Given the description of an element on the screen output the (x, y) to click on. 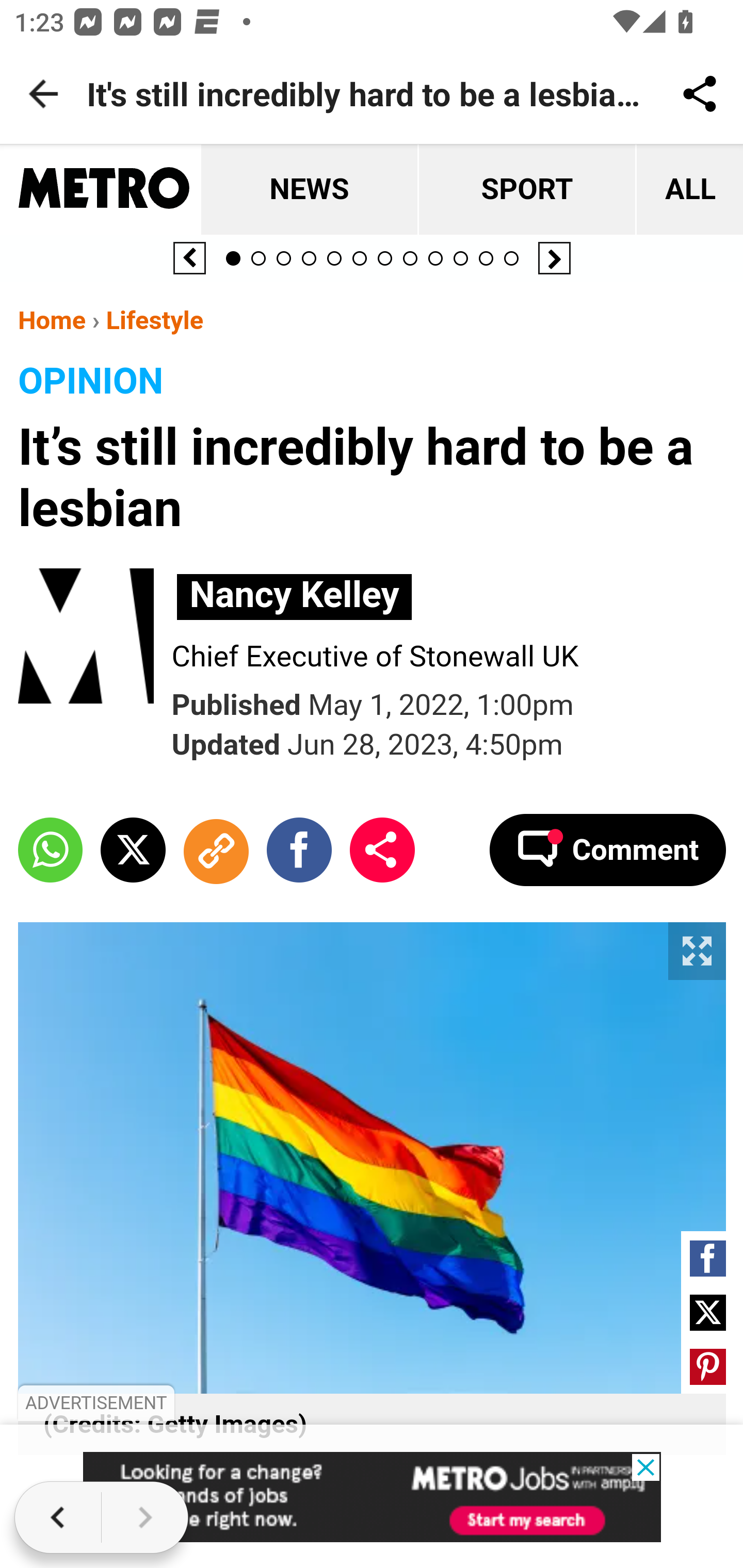
NEWS (308, 190)
SPORT (525, 190)
ALL (688, 190)
Metro (104, 189)
Home (51, 319)
Lifestyle (153, 319)
author image (95, 637)
Nancy Kelley (294, 596)
 (50, 848)
 (132, 848)
 (215, 848)
 (299, 848)
 (382, 848)
 Comment   Comment (607, 848)
 (708, 1257)
 (708, 1312)
 (708, 1366)
%3Fsource%3Dbanners-v1 (372, 1496)
